Given the description of an element on the screen output the (x, y) to click on. 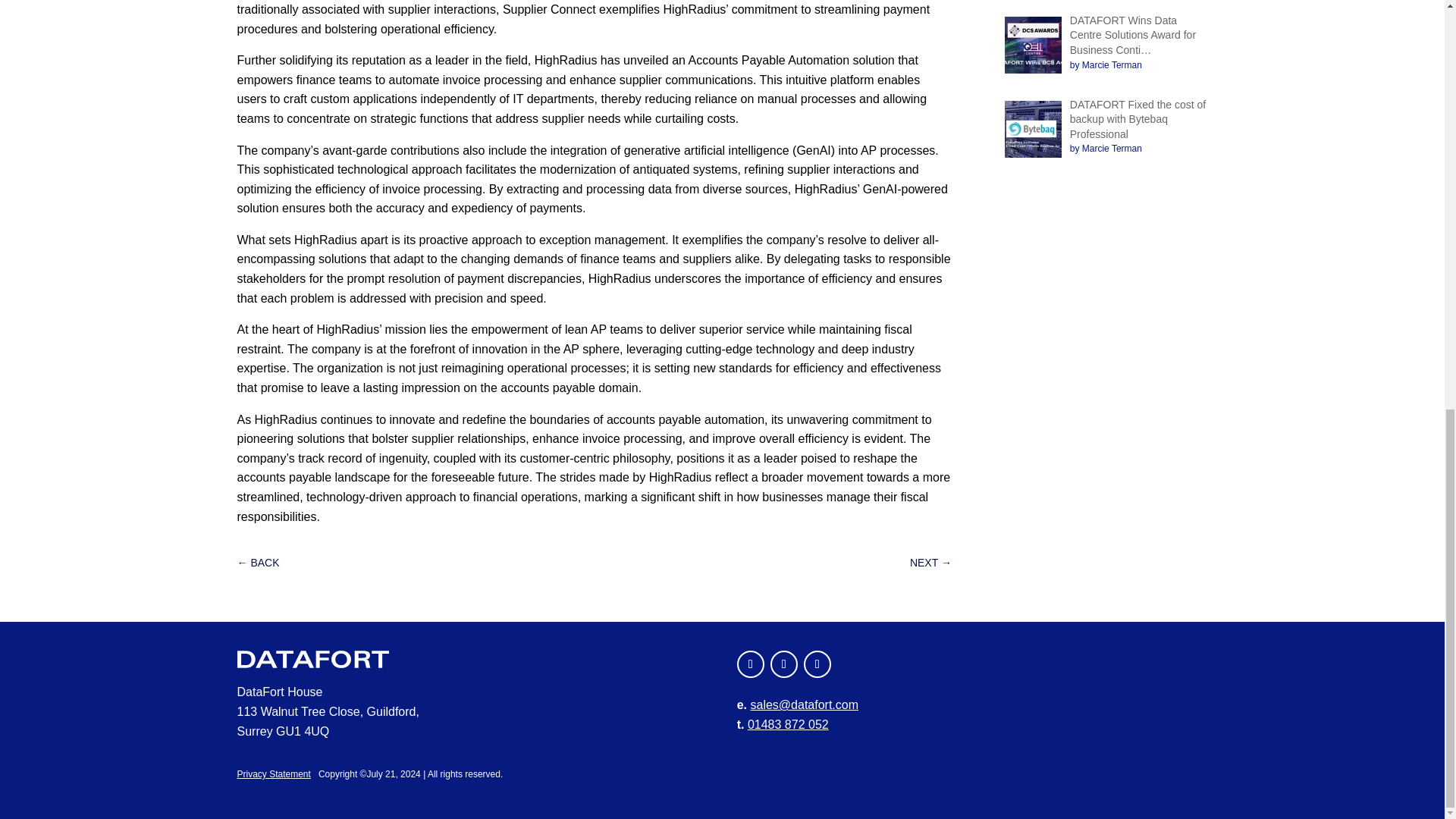
Follow on LinkedIn (817, 664)
DATAFORT-logo-white (311, 659)
Follow on Facebook (750, 664)
Follow on X (783, 664)
